Given the description of an element on the screen output the (x, y) to click on. 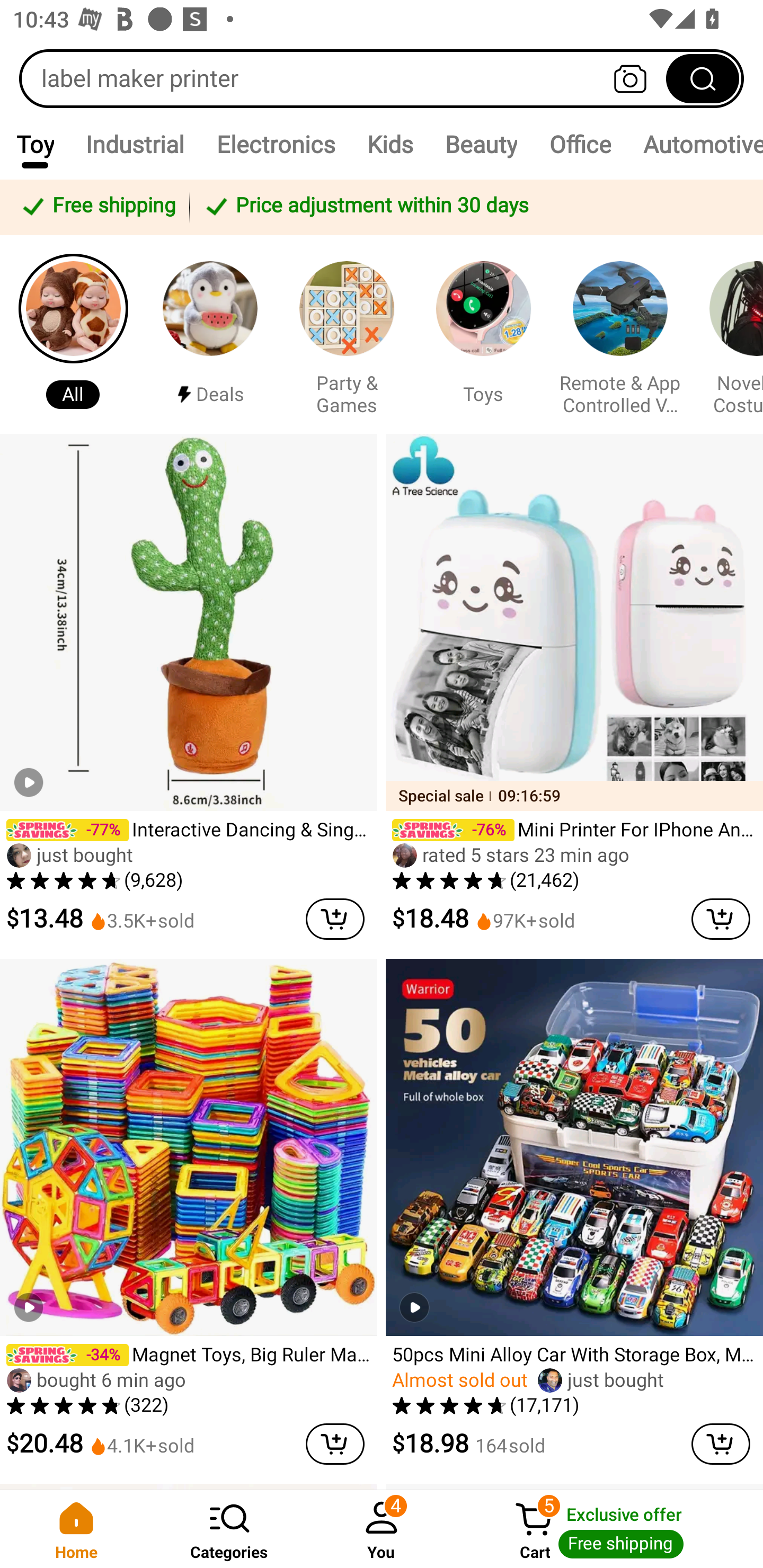
label maker printer (381, 78)
Toy (35, 144)
Industrial (134, 144)
Electronics (274, 144)
Kids (389, 144)
Beauty (480, 144)
Office (580, 144)
Automotive (695, 144)
Free shipping (97, 206)
Price adjustment within 30 days (472, 206)
All (72, 333)
￼￼Deals (209, 333)
Party & Games (346, 333)
Toys (482, 333)
Remote & App Controlled Vehicles & Parts (619, 333)
cart delete (334, 918)
cart delete (720, 918)
cart delete (334, 1443)
cart delete (720, 1443)
Home (76, 1528)
Categories (228, 1528)
You 4 You (381, 1528)
Cart 5 Cart Exclusive offer (610, 1528)
